Given the description of an element on the screen output the (x, y) to click on. 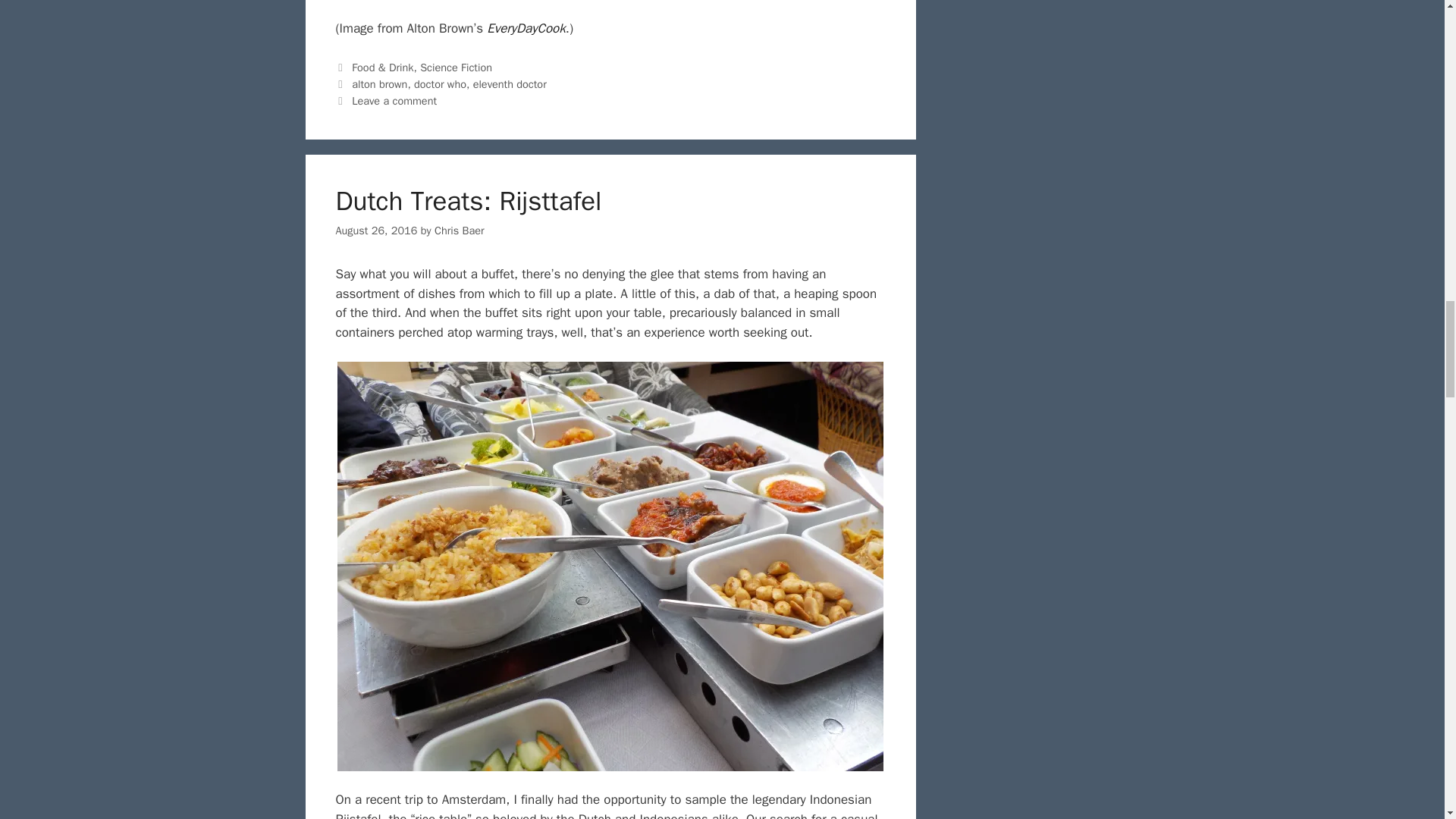
Science Fiction (456, 67)
EveryDayCook (526, 28)
Leave a comment (394, 100)
Chris Baer (458, 230)
eleventh doctor (510, 83)
doctor who (439, 83)
alton brown (379, 83)
Dutch Treats: Rijsttafel (467, 200)
View all posts by Chris Baer (458, 230)
